Given the description of an element on the screen output the (x, y) to click on. 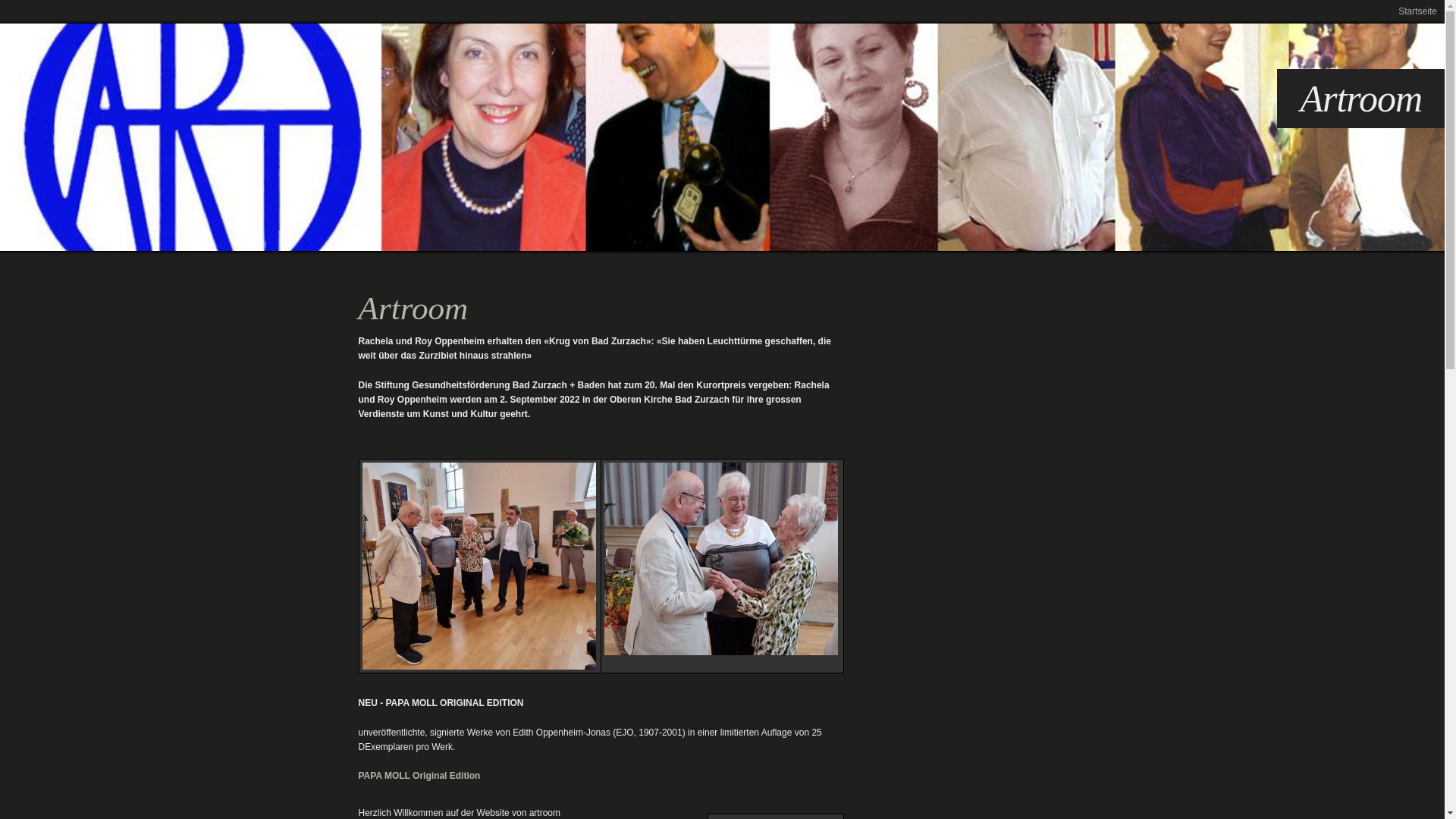
Startseite Element type: text (1417, 11)
PAPA MOLL Original Edition Element type: text (418, 775)
